Given the description of an element on the screen output the (x, y) to click on. 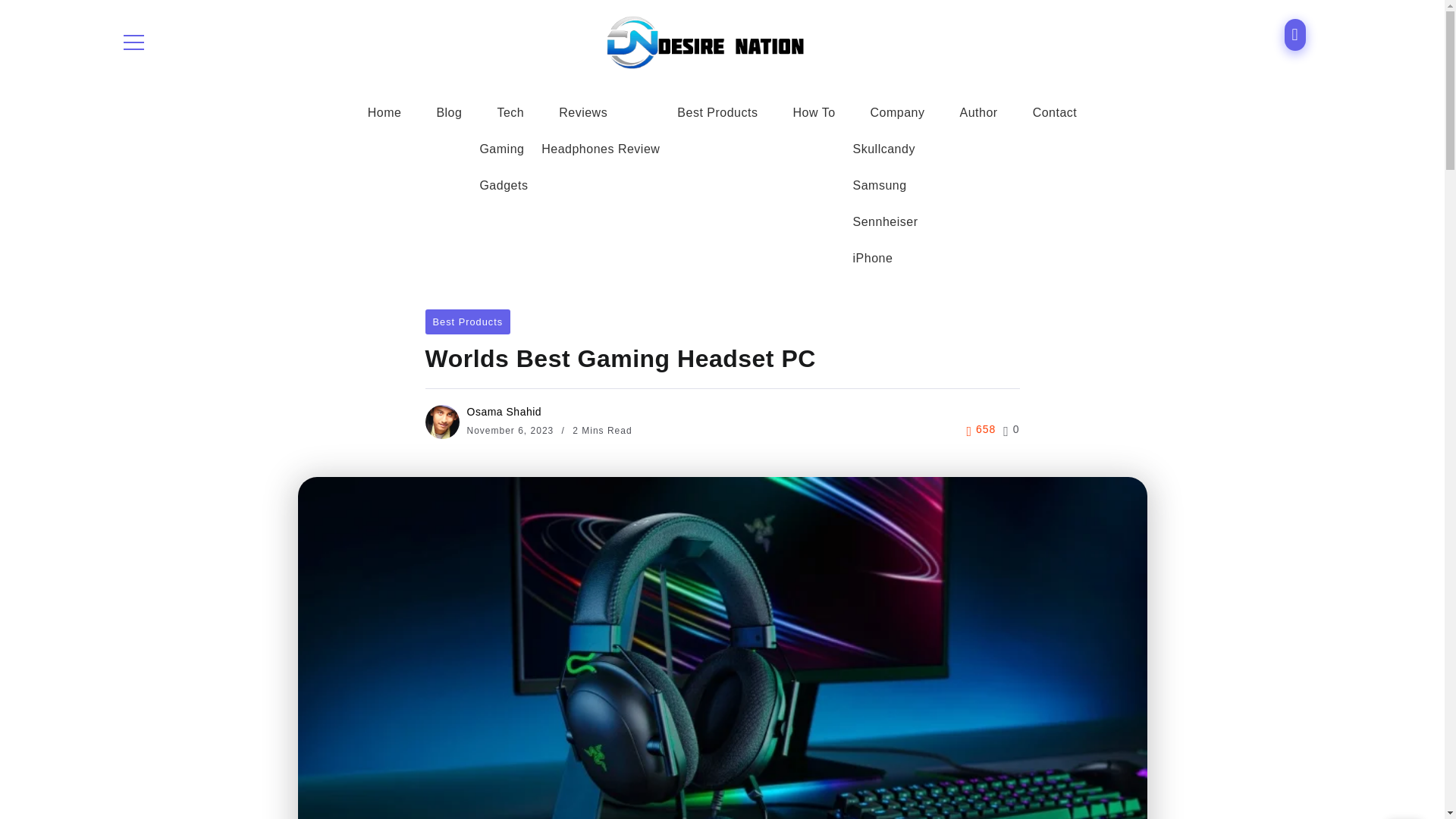
Gaming (501, 149)
Home (384, 112)
Reviews (583, 112)
Headphones Review (600, 149)
Blog (448, 112)
Gadgets (503, 185)
Desire Nation (706, 41)
Tech (509, 112)
